Given the description of an element on the screen output the (x, y) to click on. 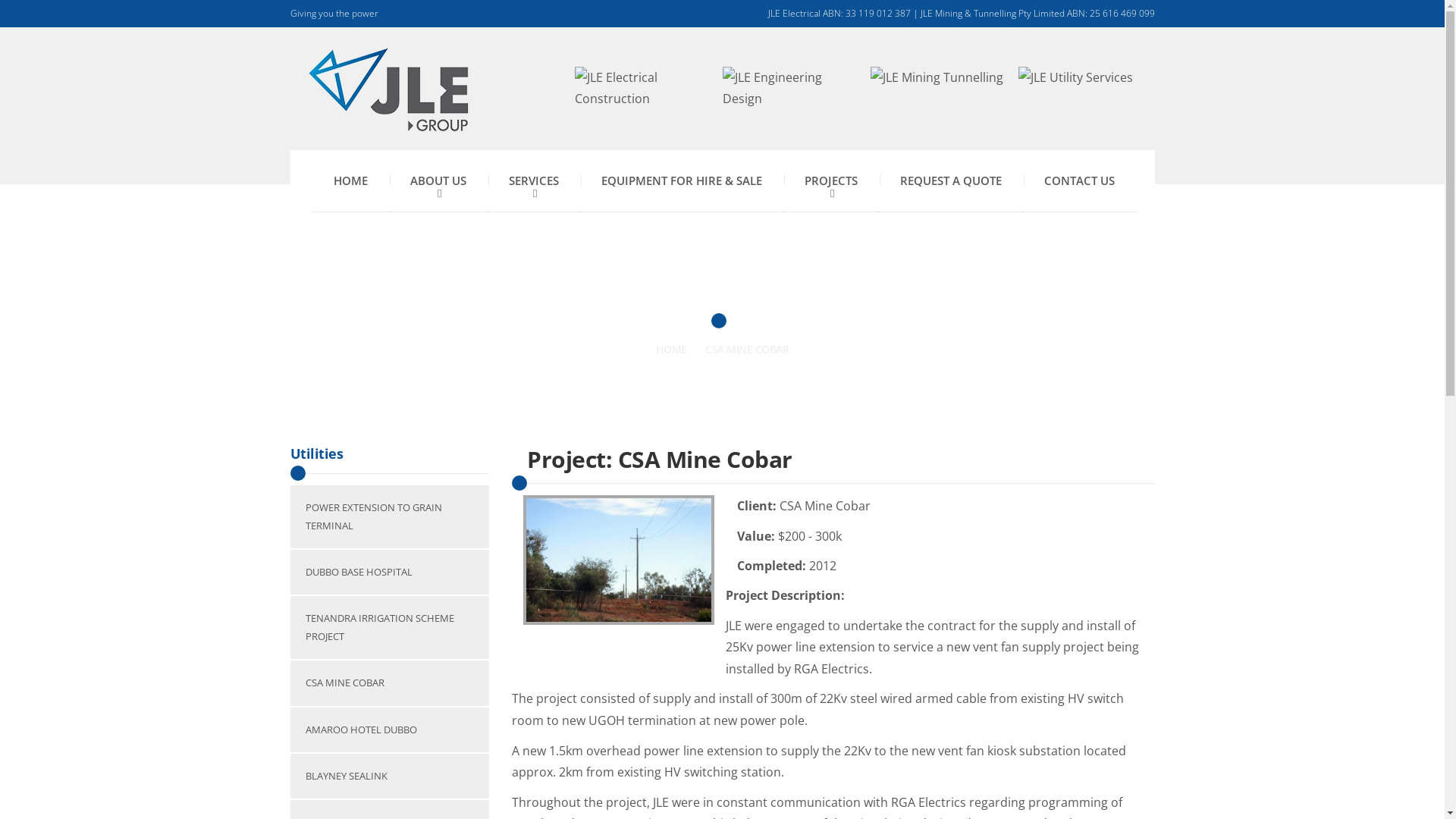
BLAYNEY SEALINK Element type: text (389, 775)
PROJECTS Element type: text (830, 181)
SERVICES Element type: text (532, 181)
Utilities Element type: text (315, 453)
HOME Element type: text (350, 181)
DUBBO BASE HOSPITAL Element type: text (389, 571)
TENANDRA IRRIGATION SCHEME PROJECT Element type: text (389, 627)
HOME Element type: text (671, 349)
EQUIPMENT FOR HIRE & SALE Element type: text (680, 181)
ABOUT US Element type: text (437, 181)
CSA MINE COBAR Element type: text (389, 682)
POWER EXTENSION TO GRAIN TERMINAL Element type: text (389, 516)
REQUEST A QUOTE Element type: text (949, 181)
AMAROO HOTEL DUBBO Element type: text (389, 729)
CSA MINE COBAR Element type: text (746, 349)
CONTACT US Element type: text (1078, 181)
